Given the description of an element on the screen output the (x, y) to click on. 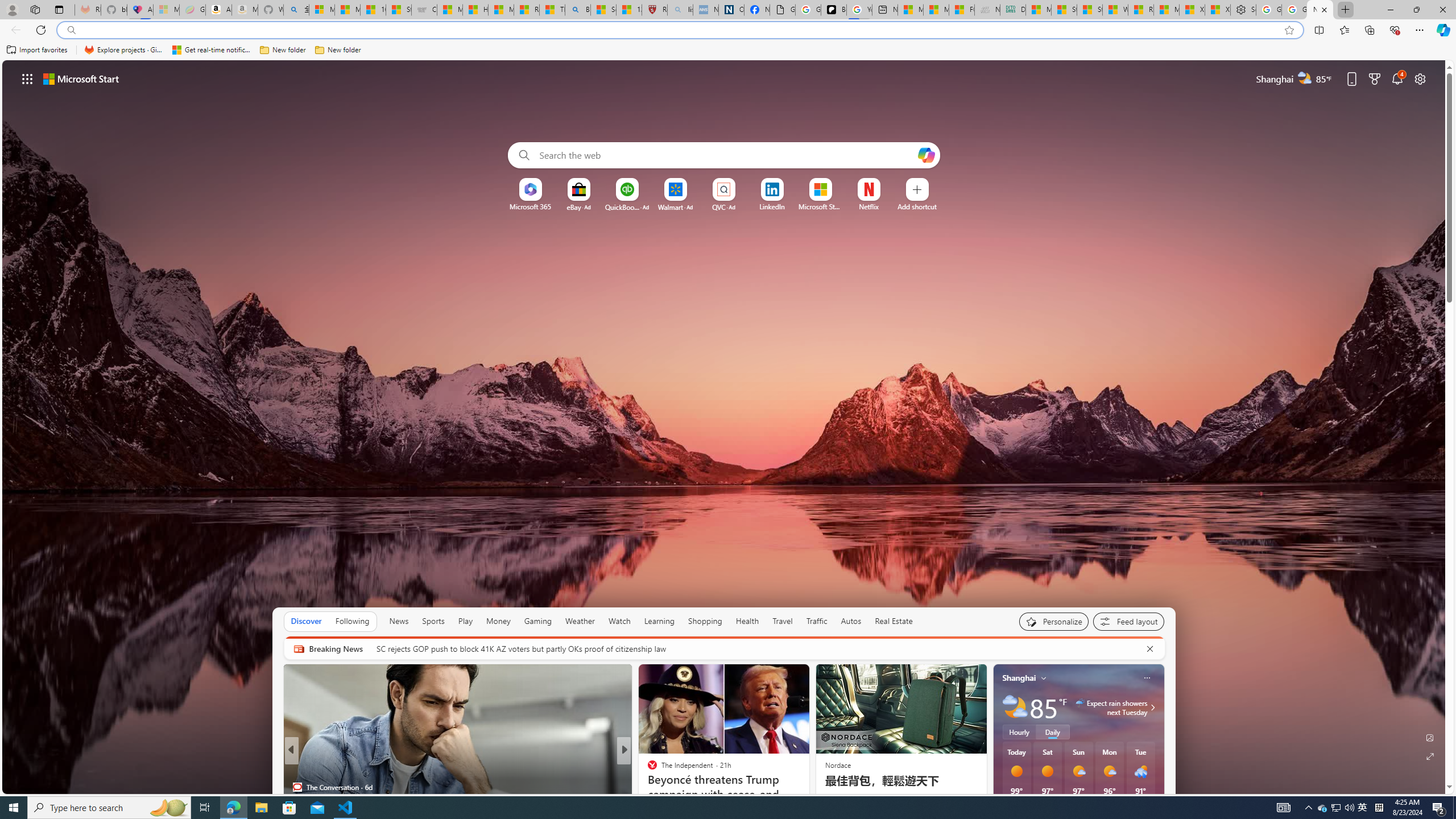
Expand background (1430, 756)
New folder (337, 49)
Inverse (647, 768)
Bing (577, 9)
